Given the description of an element on the screen output the (x, y) to click on. 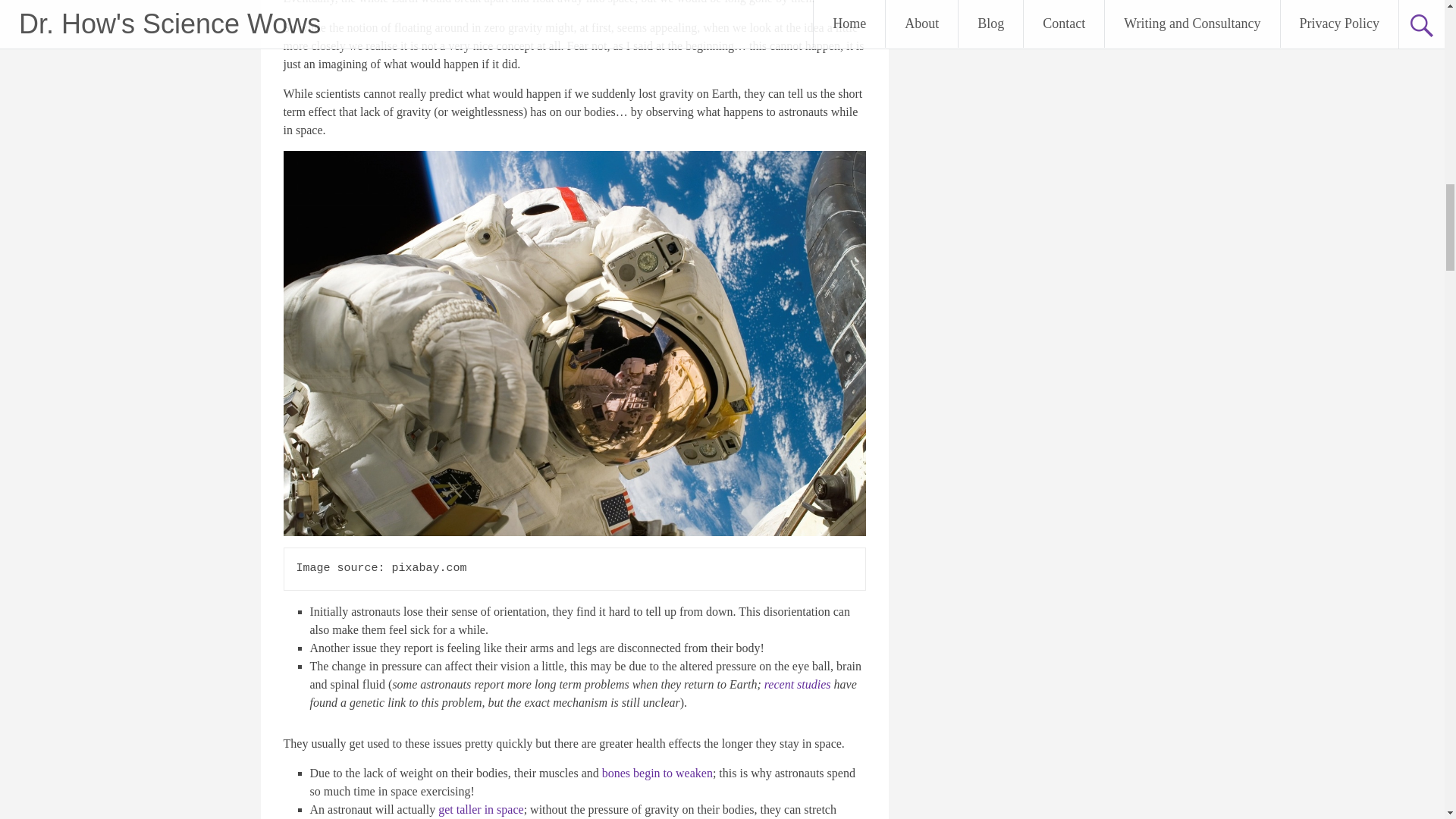
recent studies (797, 684)
bones begin to weaken (657, 772)
get taller in space (480, 809)
